Given the description of an element on the screen output the (x, y) to click on. 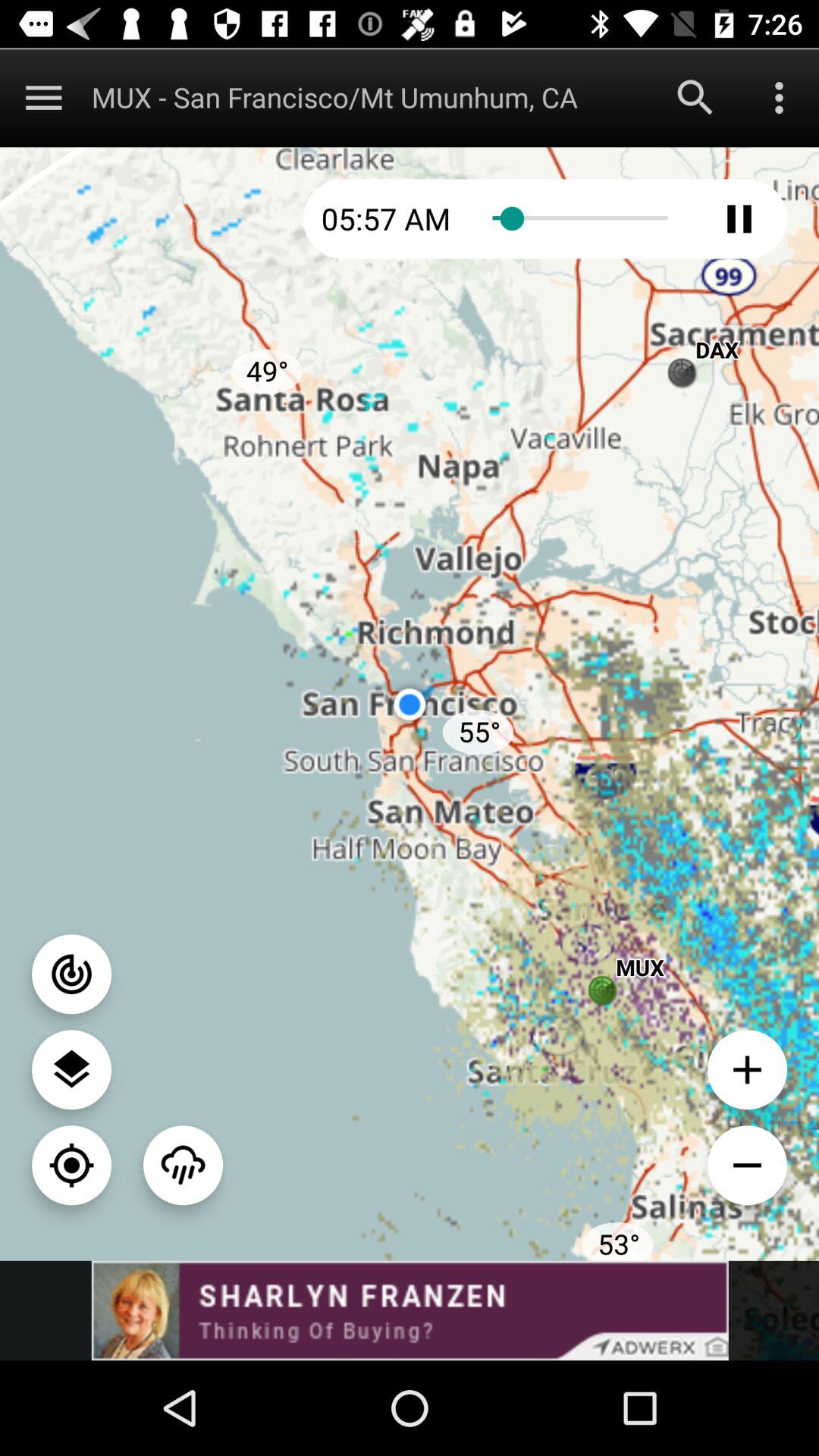
go to more details (779, 97)
